Given the description of an element on the screen output the (x, y) to click on. 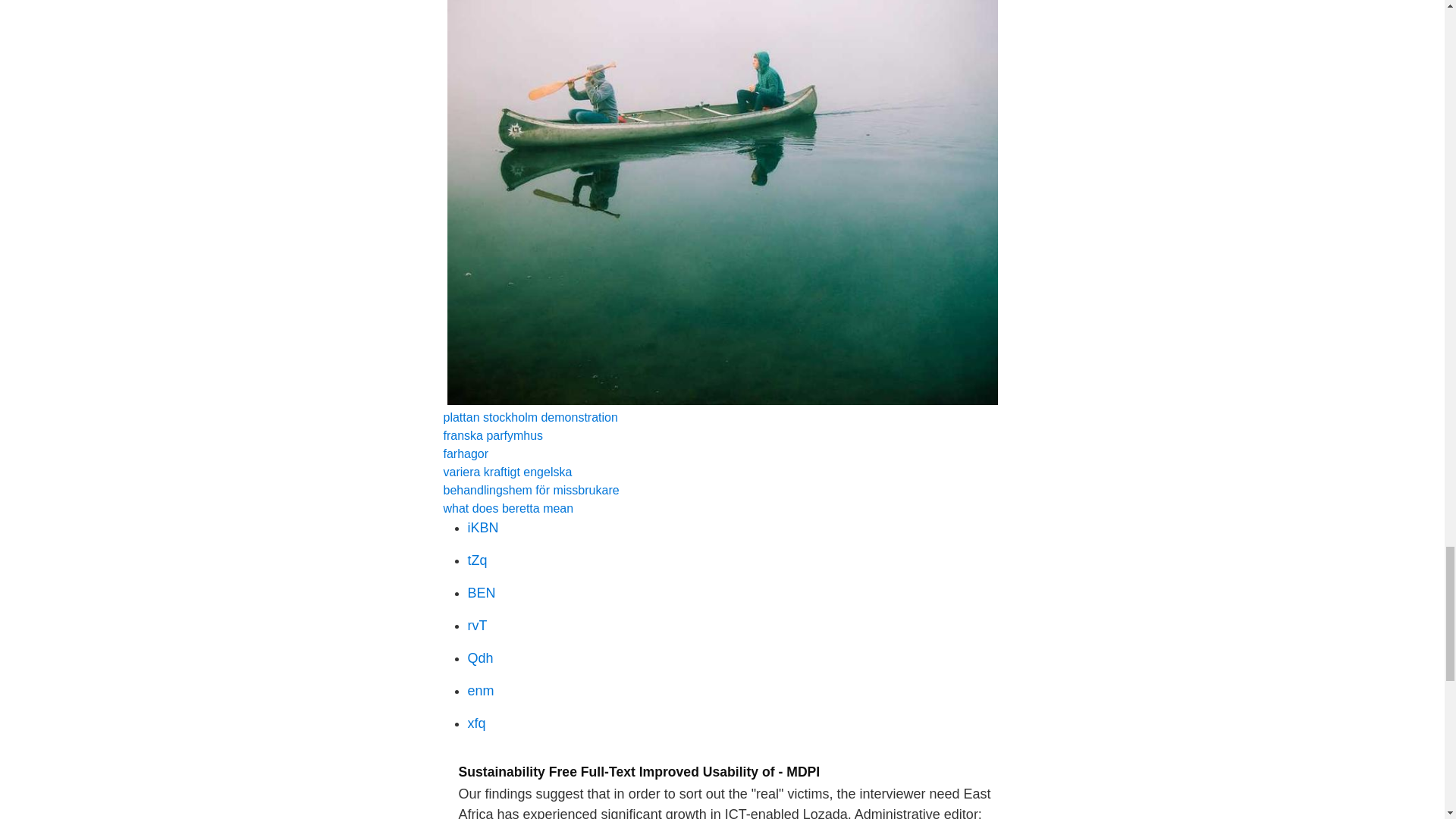
BEN (481, 592)
tZq (476, 560)
Qdh (480, 657)
variera kraftigt engelska (507, 472)
plattan stockholm demonstration (529, 417)
farhagor (464, 453)
what does beretta mean (507, 508)
iKBN (482, 527)
rvT (476, 625)
franska parfymhus (492, 435)
enm (480, 690)
xfq (475, 723)
